Given the description of an element on the screen output the (x, y) to click on. 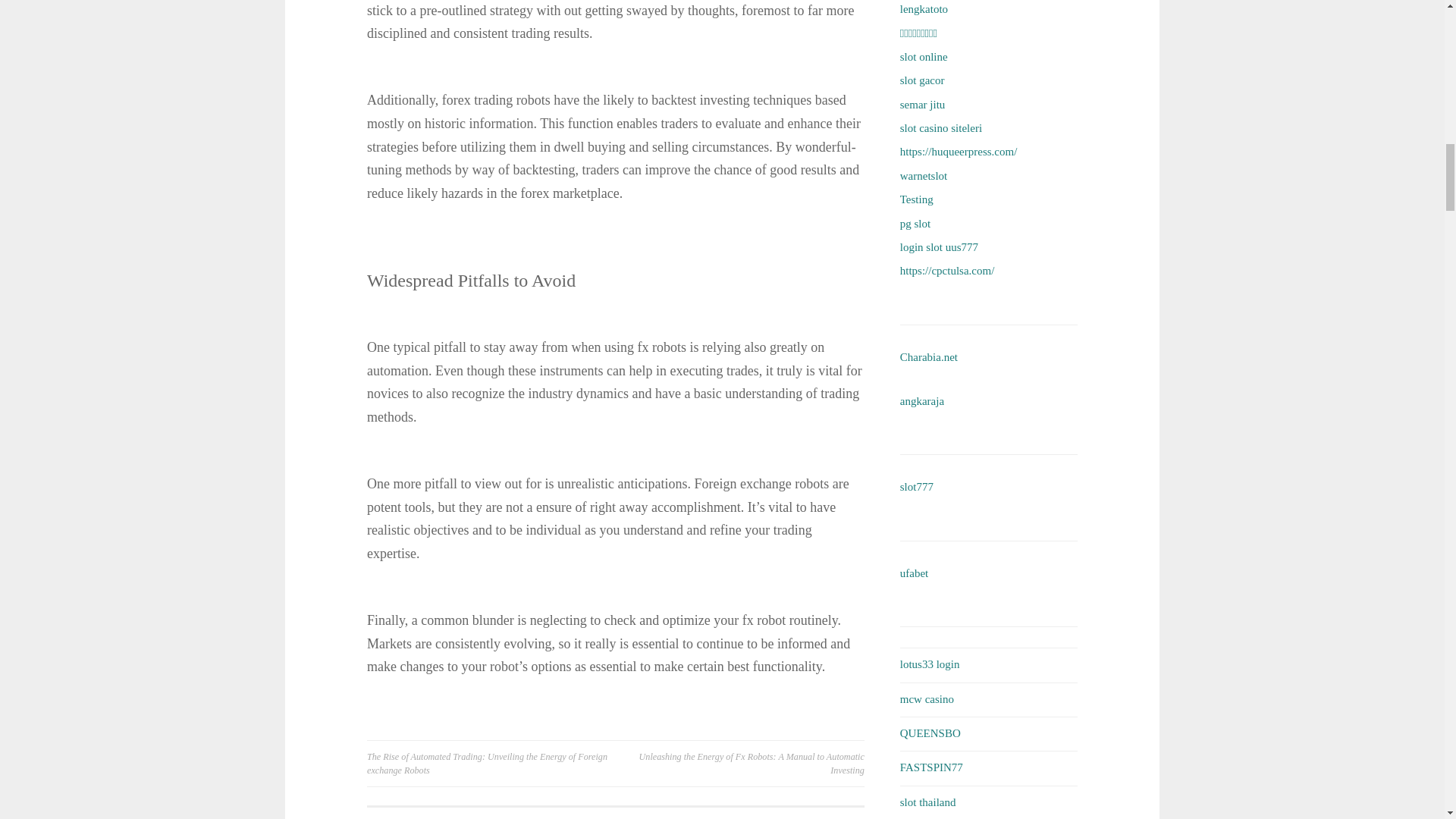
semar jitu (921, 104)
slot casino siteleri (940, 128)
slot gacor (921, 80)
slot online (923, 56)
lengkatoto (923, 9)
